Given the description of an element on the screen output the (x, y) to click on. 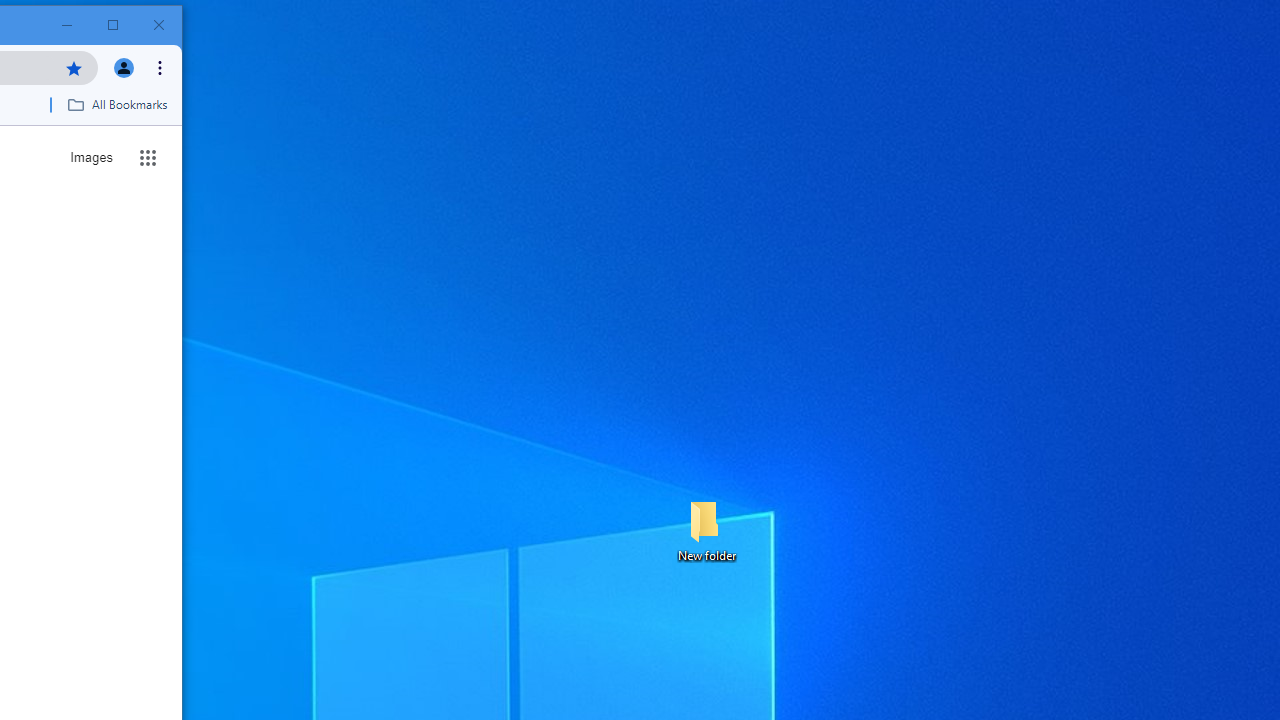
New folder (706, 530)
